Given the description of an element on the screen output the (x, y) to click on. 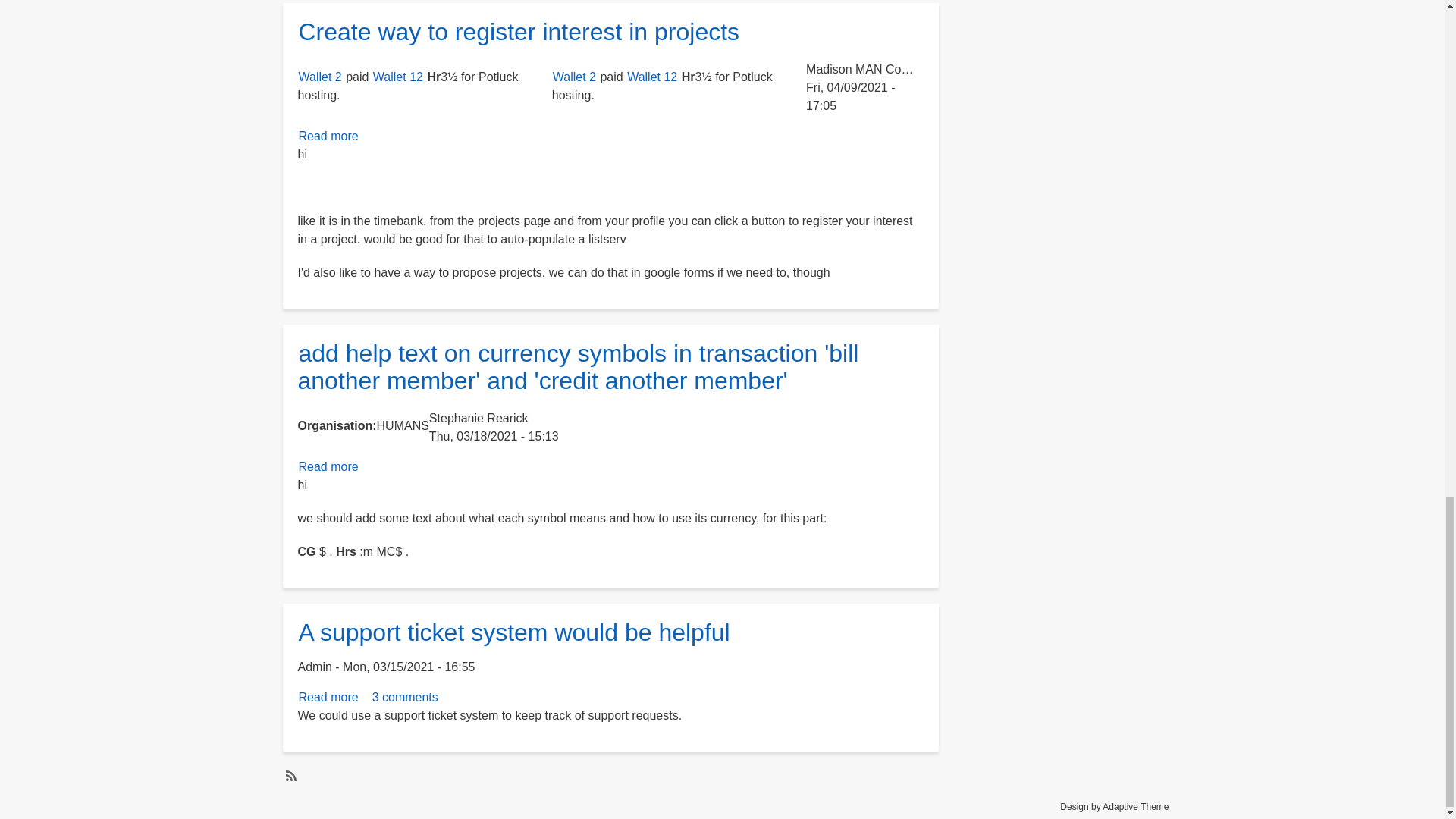
Wallet 2 (319, 76)
Monday, March 15, 2021 - 16:55 (408, 666)
3 comments (405, 697)
Wallet 12 (652, 76)
A support ticket system would be helpful (327, 135)
SubscribeSubscribe to Site Suggestion (513, 632)
